Given the description of an element on the screen output the (x, y) to click on. 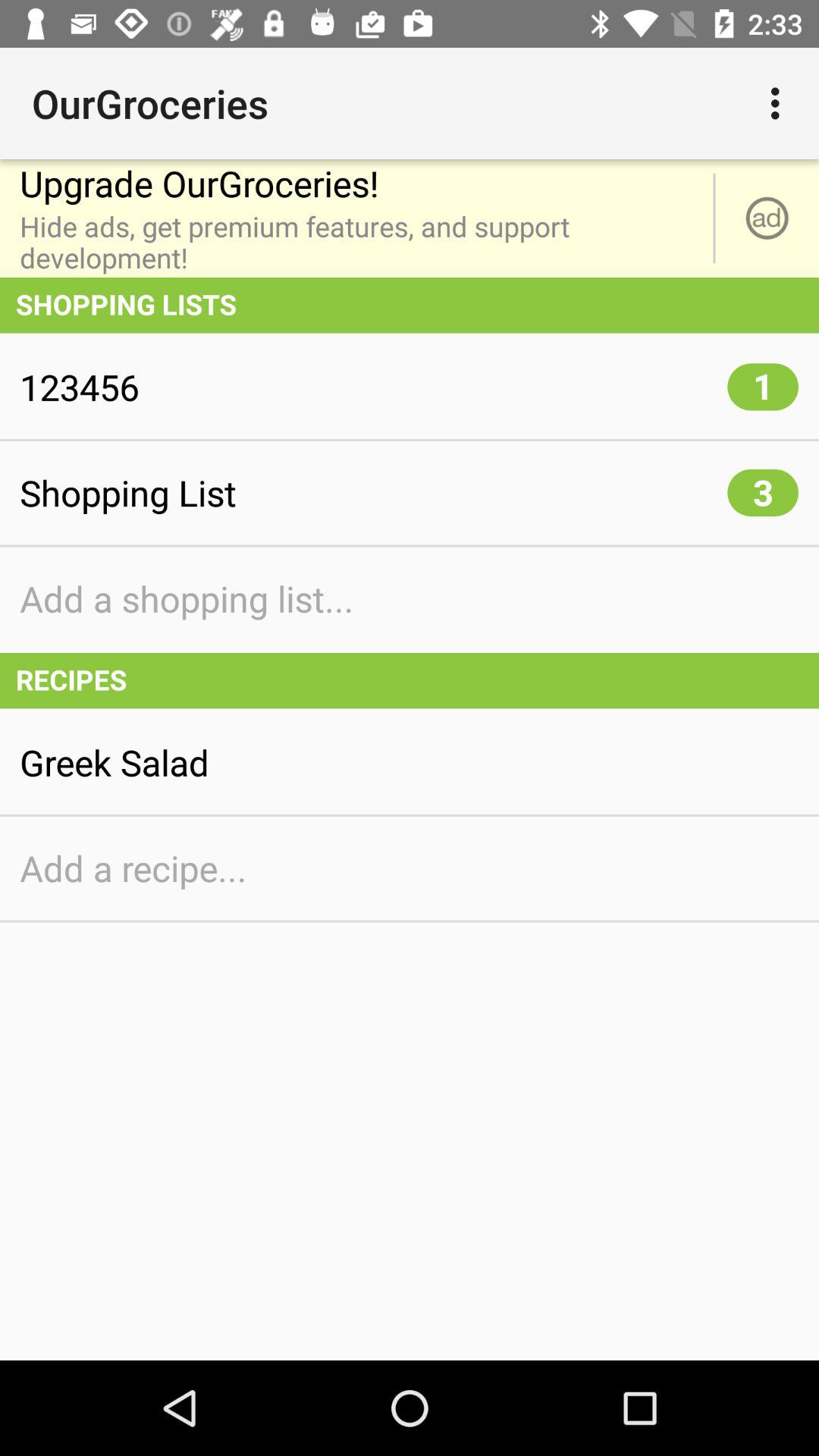
choose item next to upgrade ourgroceries! icon (767, 218)
